Given the description of an element on the screen output the (x, y) to click on. 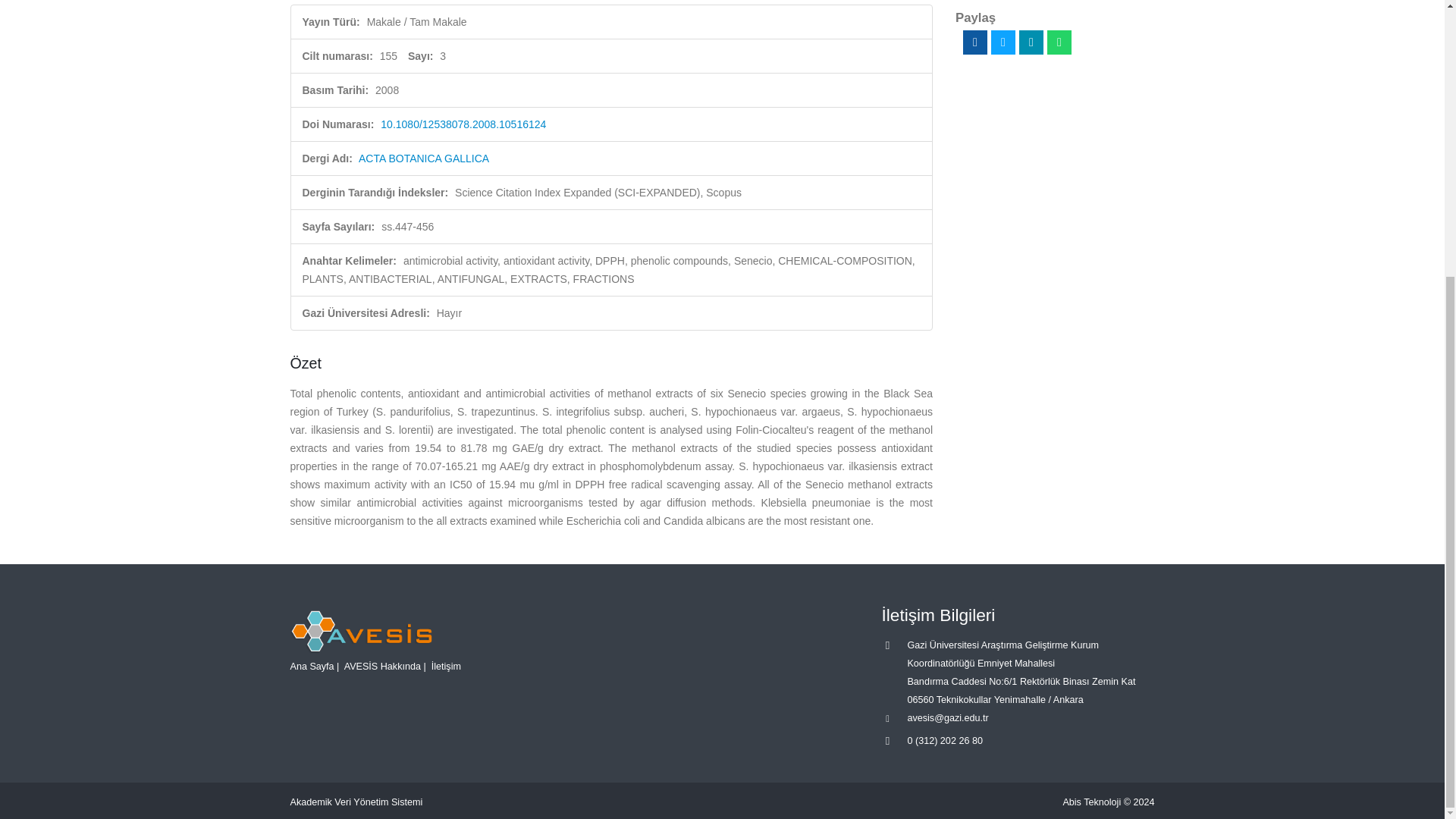
ACTA BOTANICA GALLICA (423, 158)
Abis Teknoloji (1091, 801)
Ana Sayfa (311, 665)
